Given the description of an element on the screen output the (x, y) to click on. 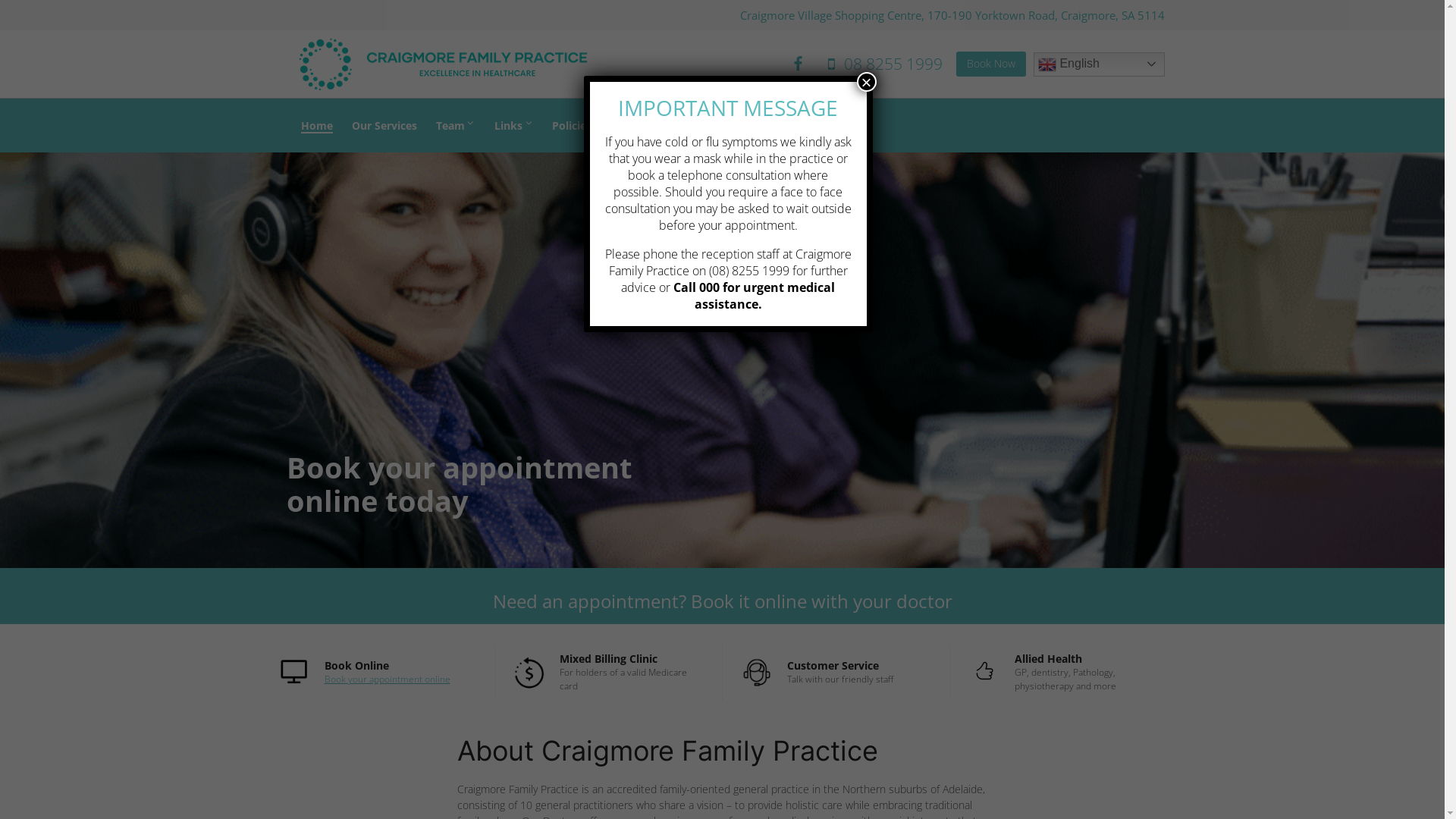
Our Services Element type: text (384, 124)
Links Element type: text (513, 124)
Team Element type: text (455, 124)
Need an appointment? Book it online with your doctor Element type: text (722, 600)
Policies and Feedback Element type: text (614, 124)
English Element type: text (1098, 63)
Customer Service
Talk with our friendly staff Element type: text (835, 672)
Book Online Element type: text (356, 665)
Book Now Element type: text (991, 64)
Book your appointment online Element type: text (387, 678)
08 8255 1999 Element type: text (882, 64)
Home Element type: text (316, 124)
